Given the description of an element on the screen output the (x, y) to click on. 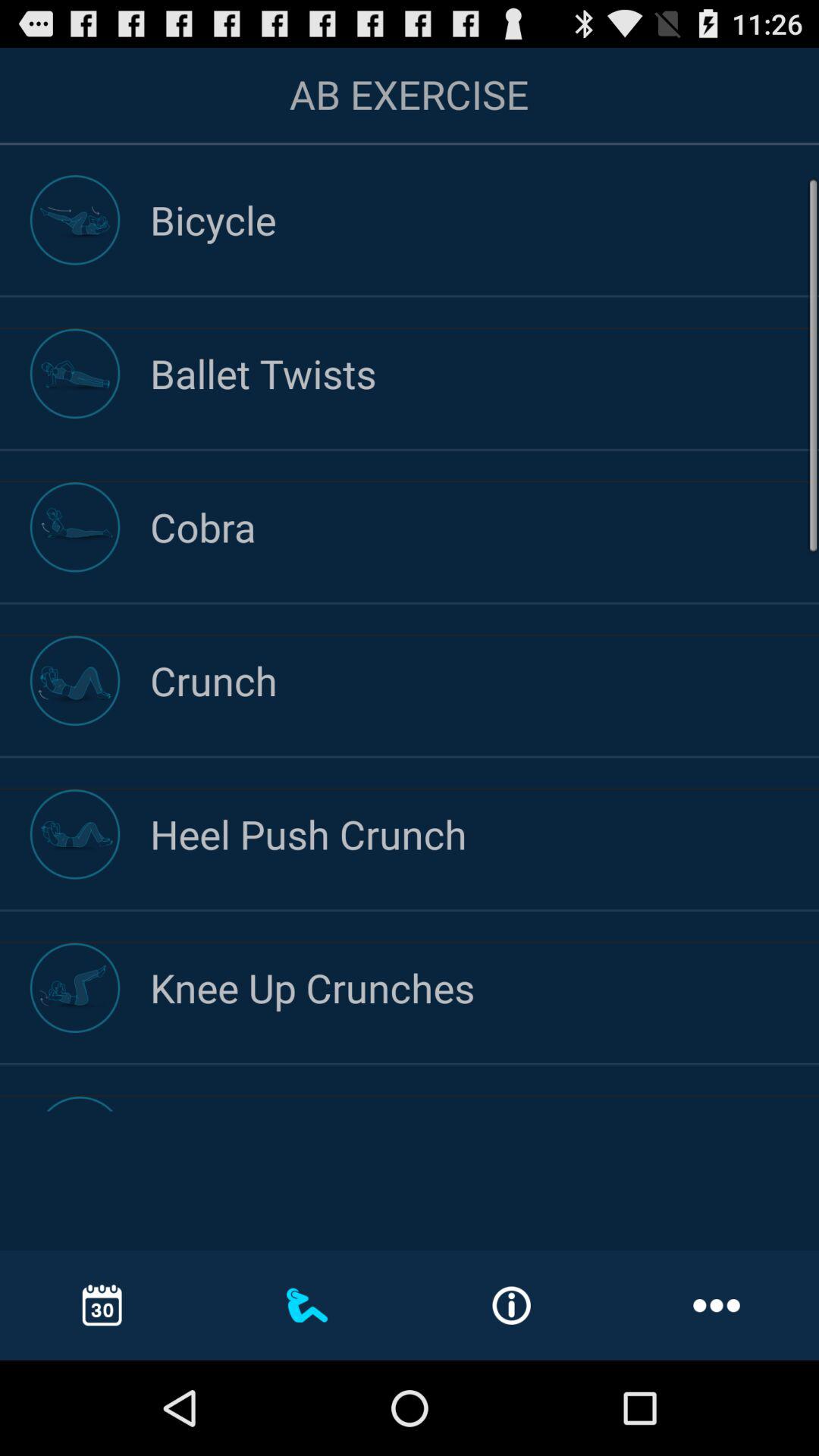
press the ballet twists (484, 372)
